Given the description of an element on the screen output the (x, y) to click on. 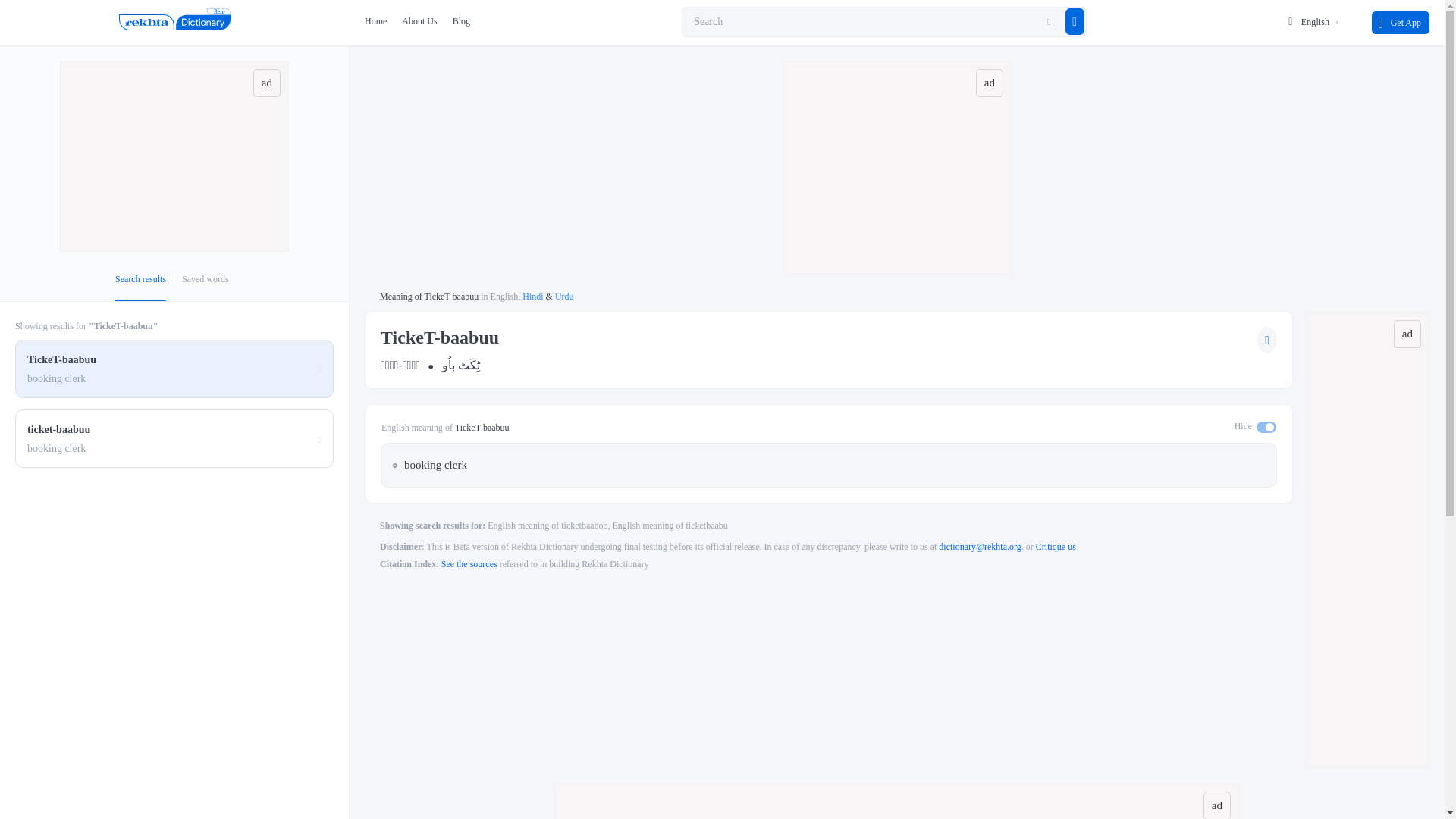
Critique us (1055, 546)
See the sources (469, 563)
Citation (469, 563)
Critique us (1055, 546)
Hindi (532, 296)
Advertisement (898, 801)
Urdu (563, 296)
Advertisement (174, 155)
English (504, 296)
